Given the description of an element on the screen output the (x, y) to click on. 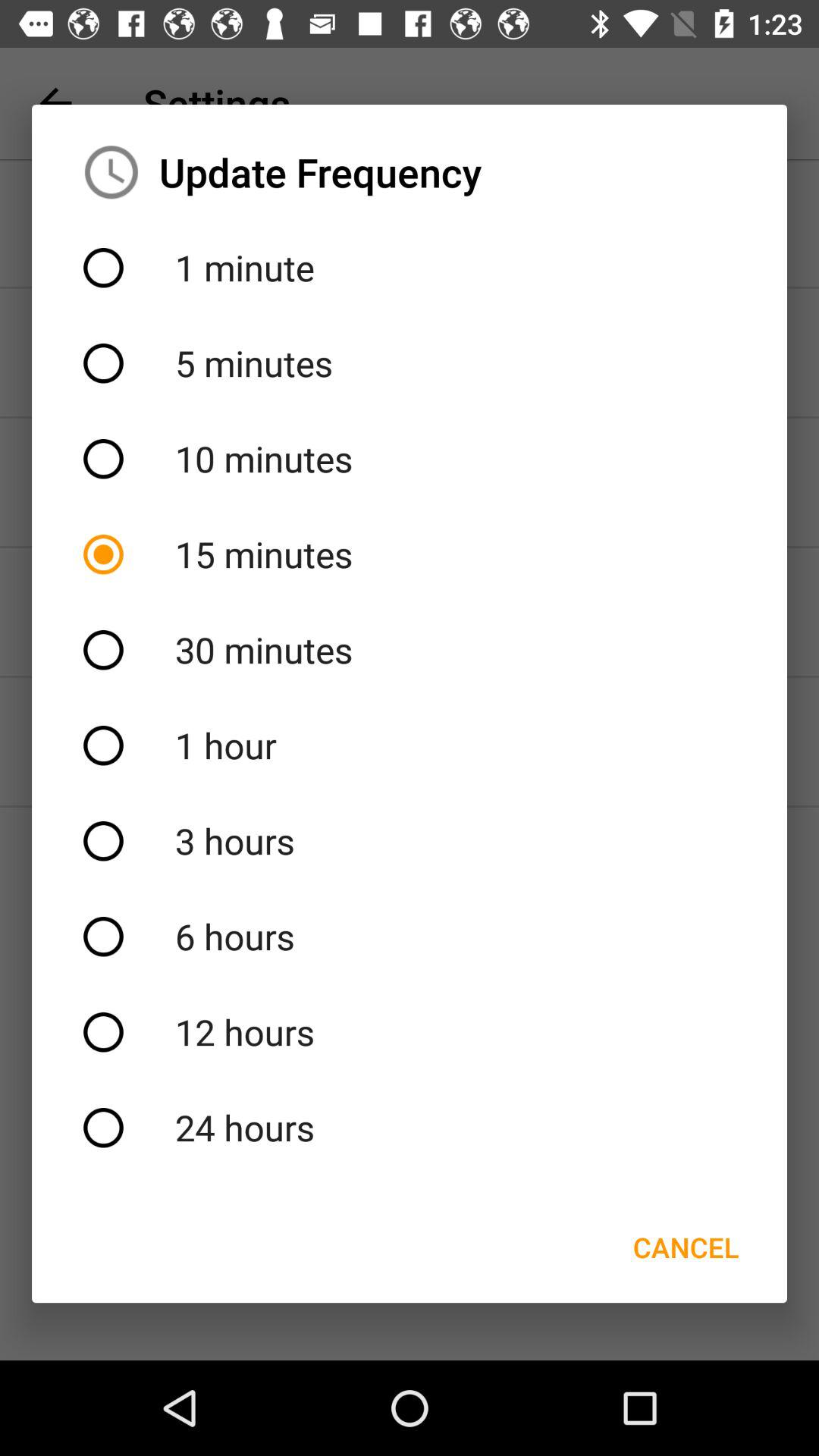
swipe until cancel item (686, 1247)
